Given the description of an element on the screen output the (x, y) to click on. 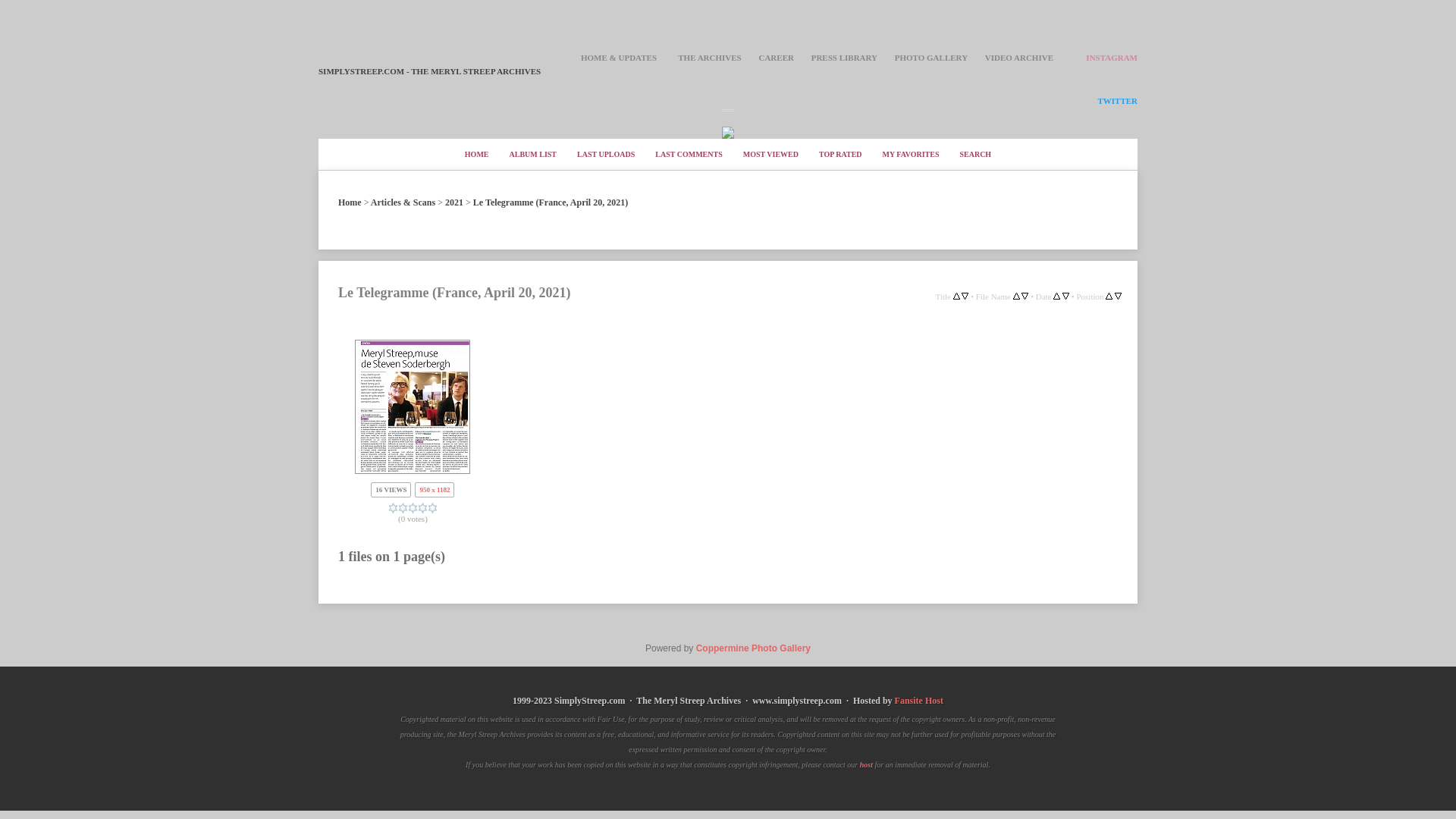
Sort by position descending (1118, 296)
Sort by date descending (1065, 296)
Show top rated items (839, 154)
MOST VIEWED (770, 154)
Go to my favorites (911, 154)
Home (349, 202)
INSTAGRAM (1111, 57)
Show most viewed items (770, 154)
HOME (476, 154)
PRESS LIBRARY (843, 57)
host (866, 765)
LAST UPLOADS (605, 154)
Sort by name descending (1024, 296)
Fansite Host (919, 701)
VIDEO ARCHIVE (1018, 57)
